Given the description of an element on the screen output the (x, y) to click on. 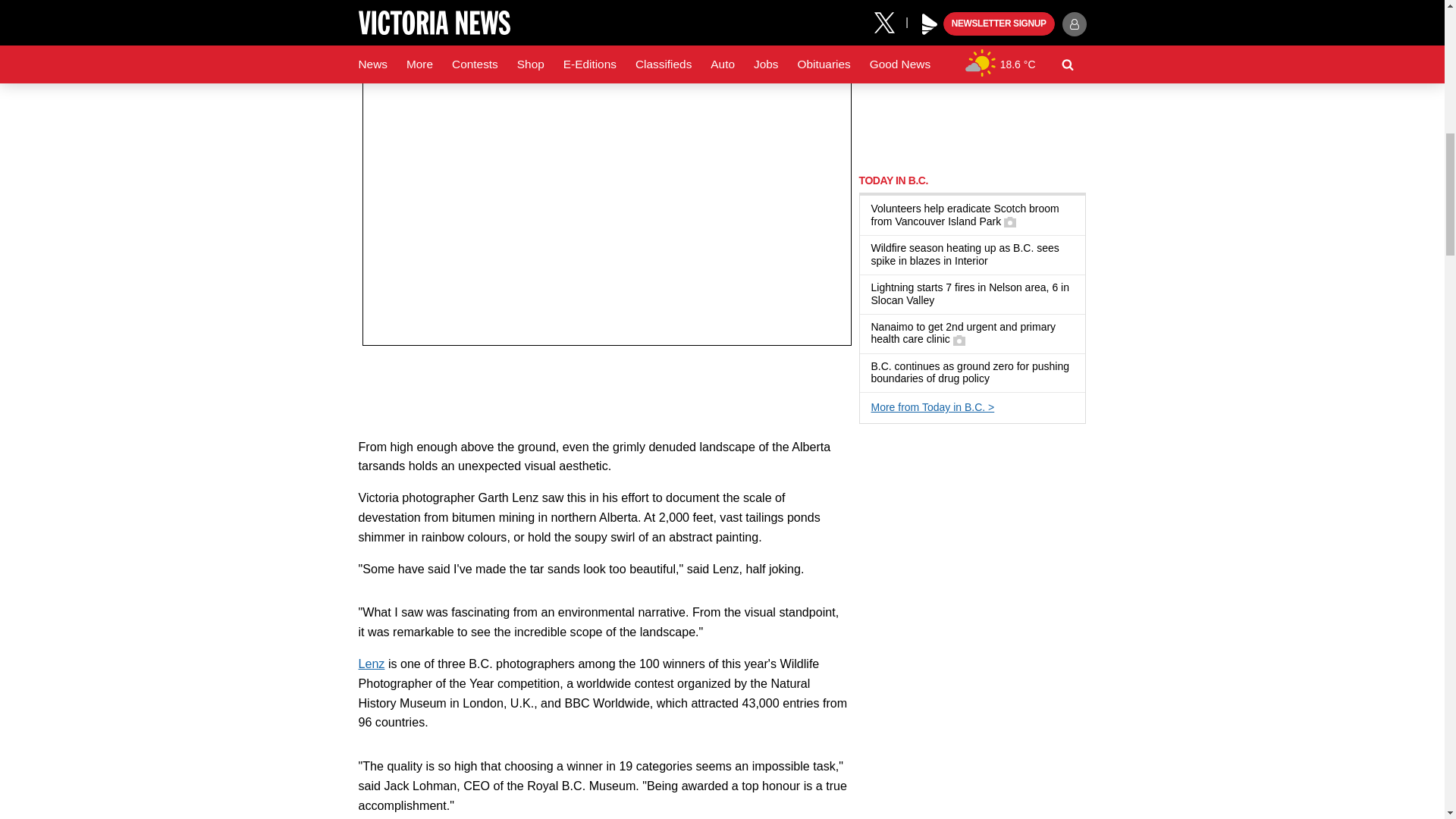
Has a gallery (1010, 222)
Has a gallery (959, 340)
